Given the description of an element on the screen output the (x, y) to click on. 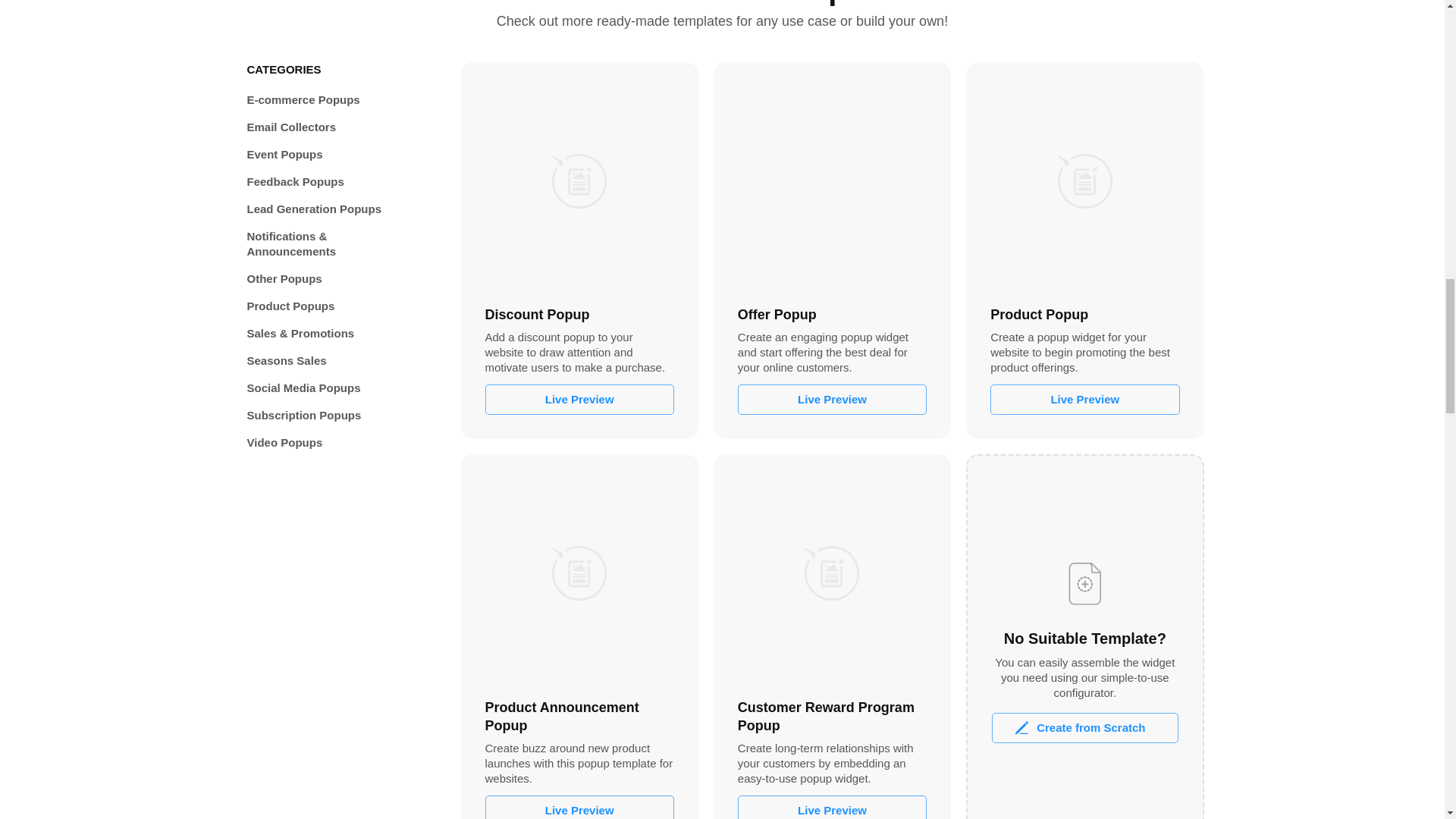
Product Announcement Popup (579, 572)
Product Popup (1084, 180)
Customer Reward Program Popup (832, 572)
Offer Popup (832, 180)
Discount Popup (579, 180)
